Given the description of an element on the screen output the (x, y) to click on. 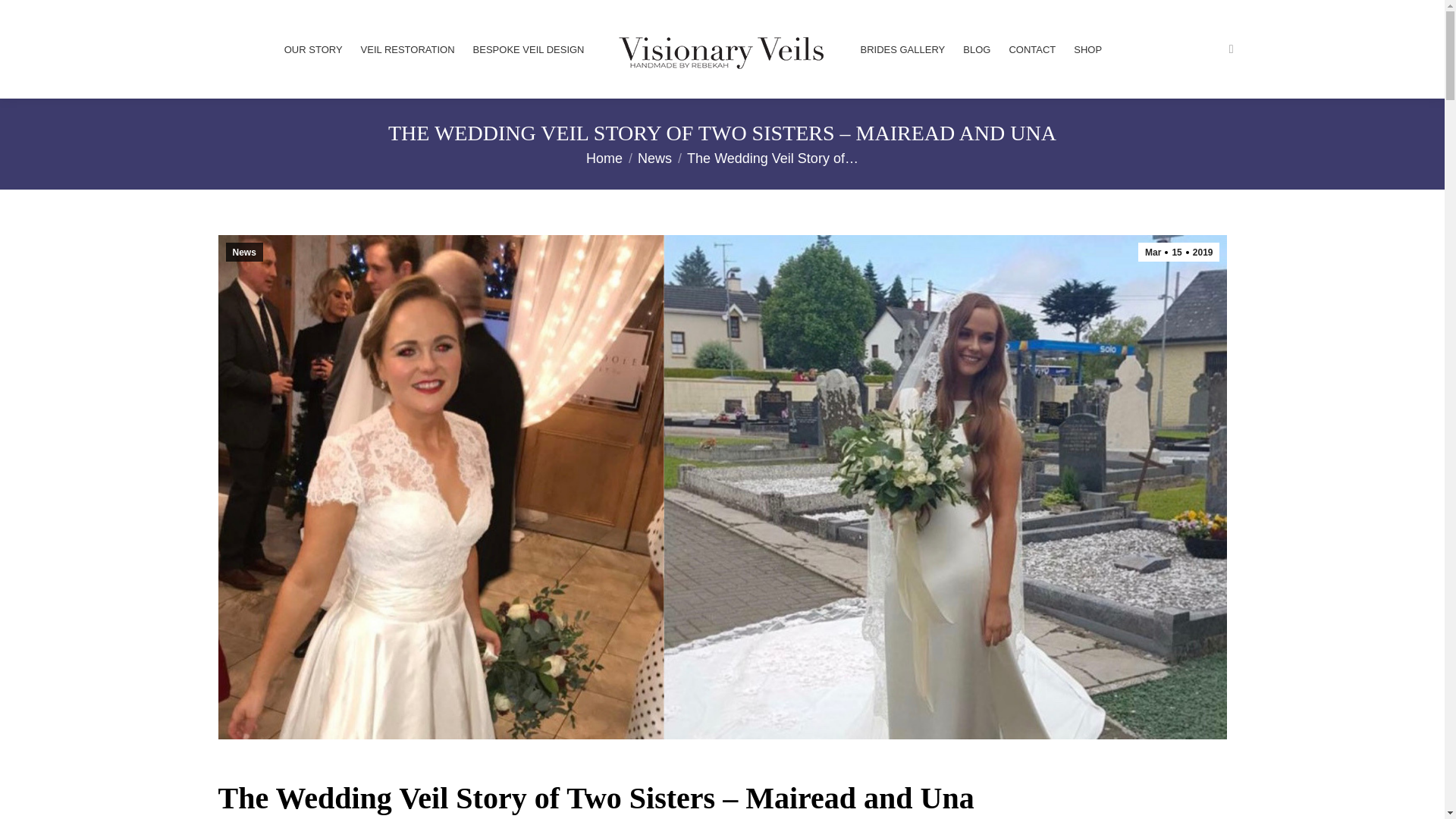
CONTACT (1032, 49)
BESPOKE VEIL DESIGN (528, 49)
VEIL RESTORATION (408, 49)
BLOG (975, 49)
News (654, 158)
OUR STORY (312, 49)
SHOP (1087, 49)
8:28 pm (1178, 251)
Home (604, 158)
BRIDES GALLERY (902, 49)
